Given the description of an element on the screen output the (x, y) to click on. 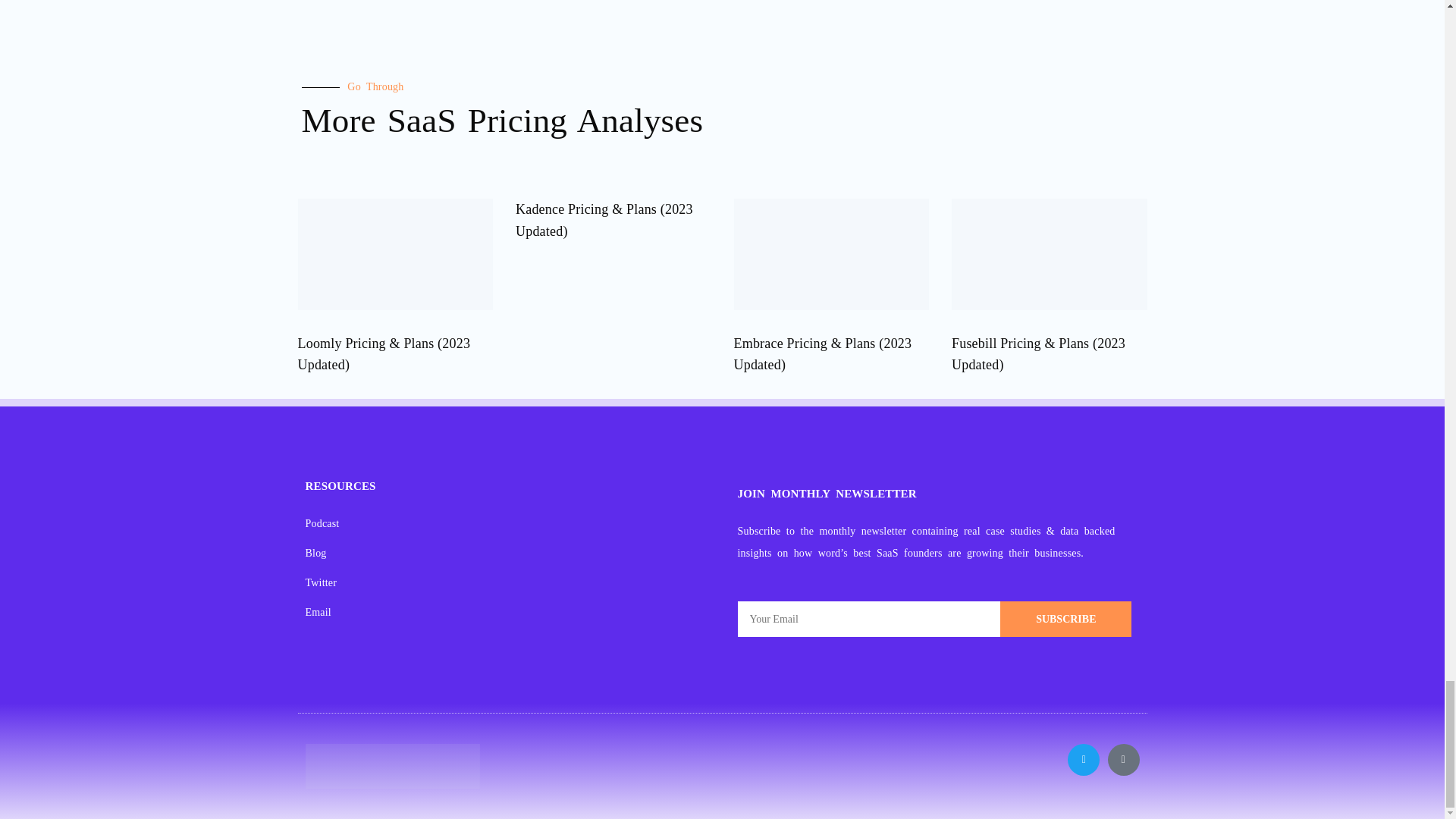
Blog (509, 553)
Podcast (509, 523)
